Given the description of an element on the screen output the (x, y) to click on. 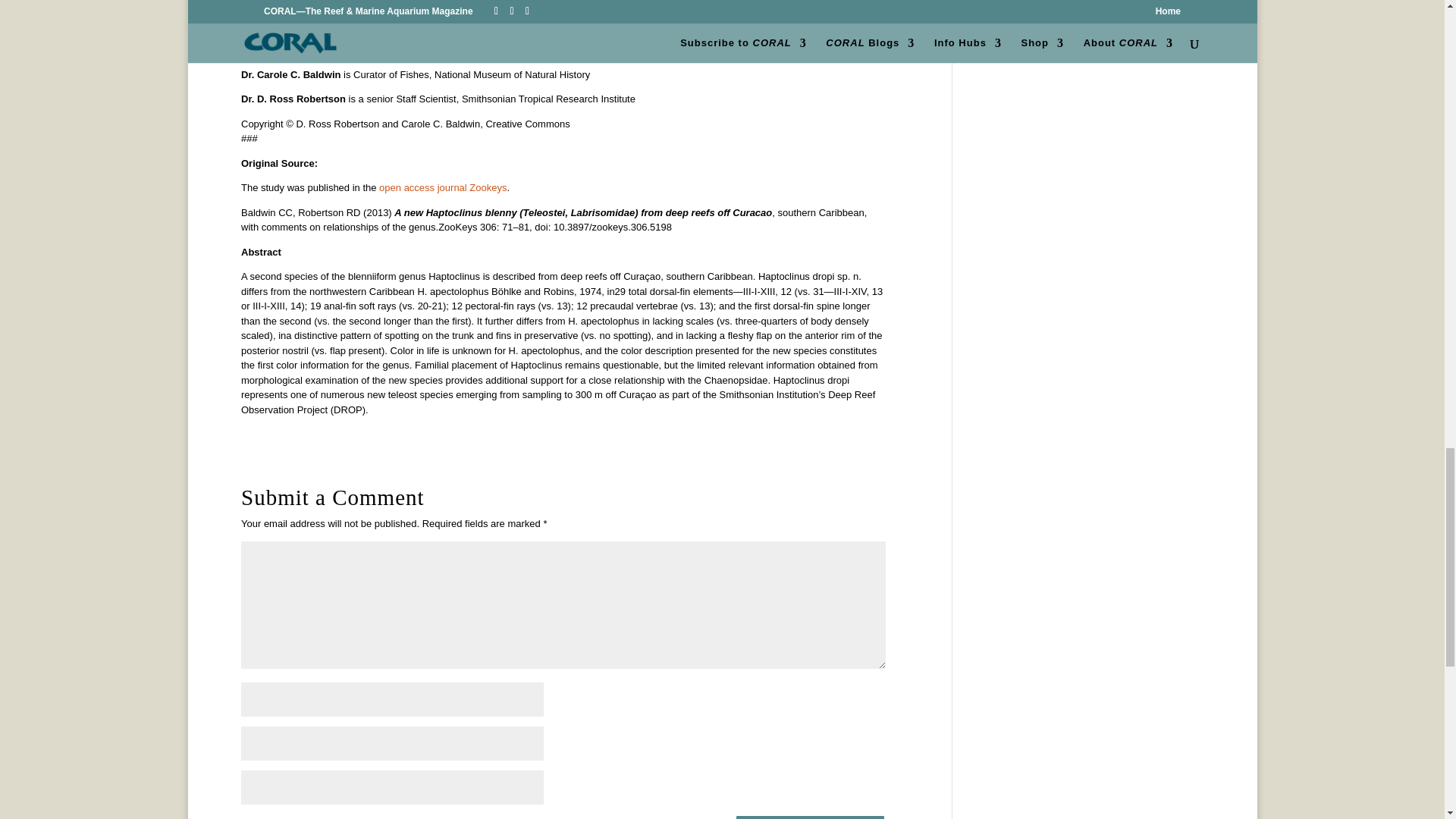
Submit Comment (810, 816)
